Given the description of an element on the screen output the (x, y) to click on. 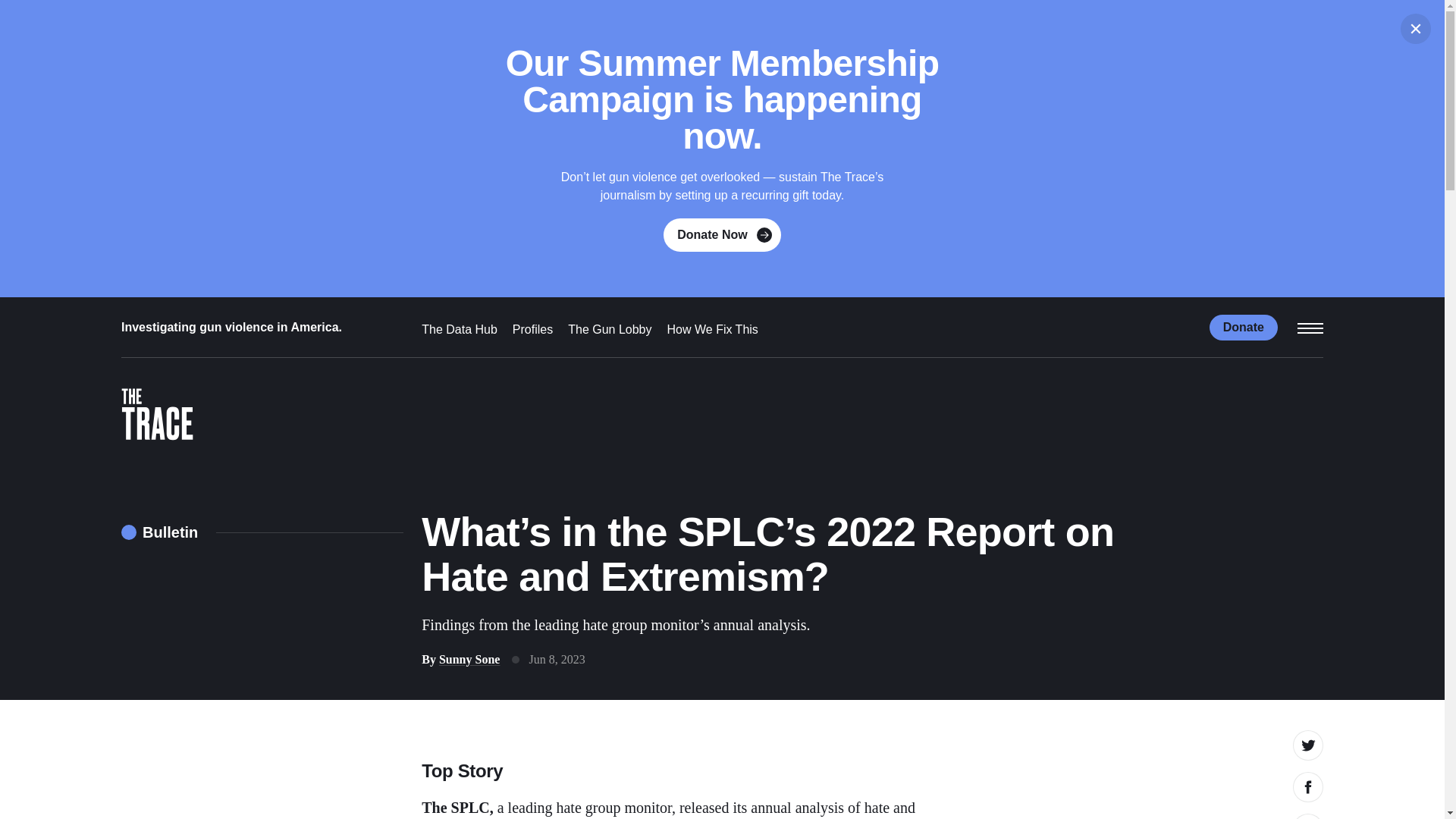
Close (1415, 28)
Profiles (532, 328)
Share on Twitter (1307, 745)
Share on Facebook (1307, 787)
Donate (1243, 326)
Bulletin (159, 532)
Email a link to this page (1307, 816)
Sunny Sone (469, 658)
How We Fix This (712, 328)
The Data Hub (459, 328)
The Gun Lobby (608, 328)
The Trace (156, 417)
Donate Now (721, 234)
